Given the description of an element on the screen output the (x, y) to click on. 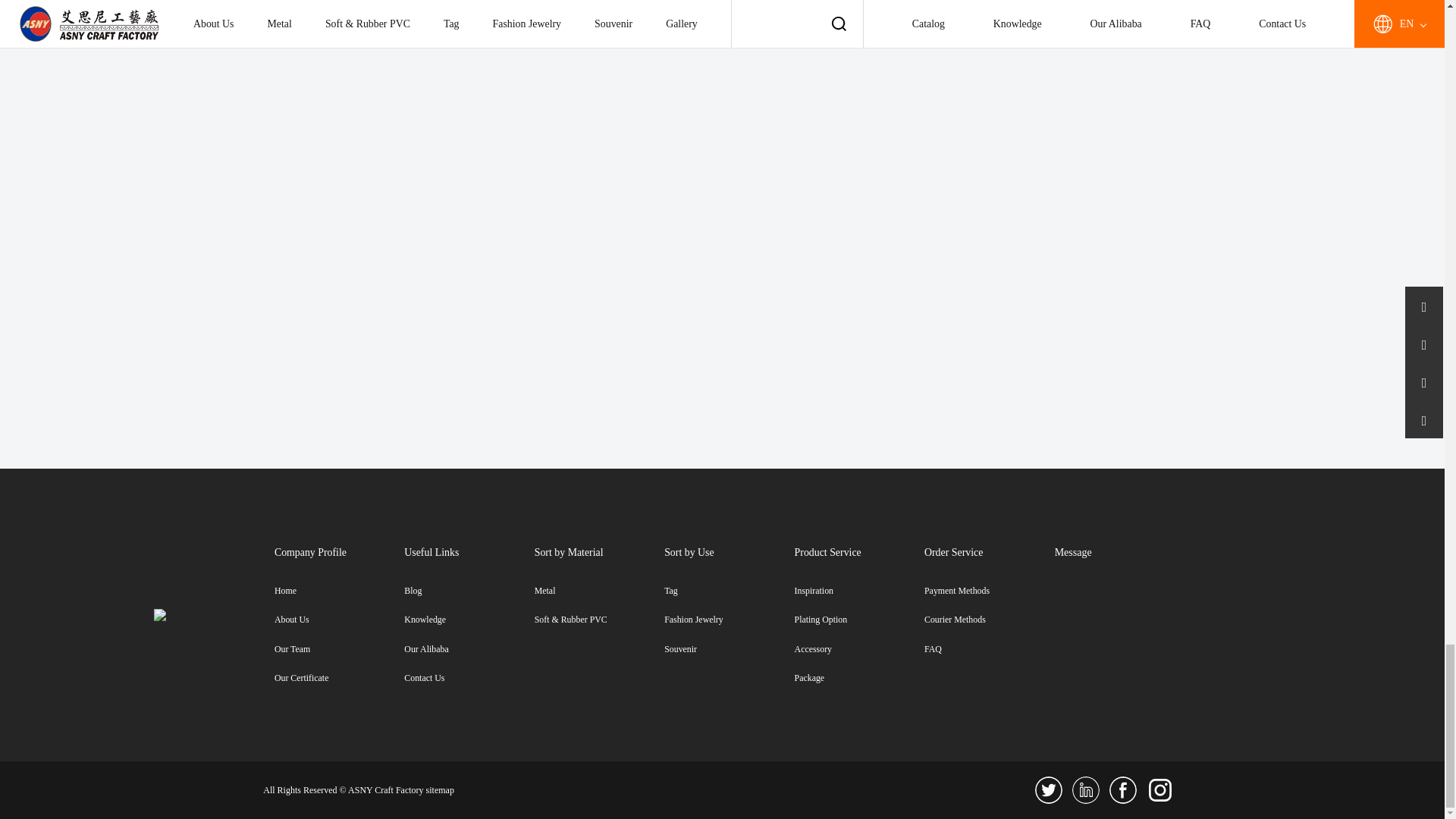
Knowledge (469, 619)
Our Alibaba (469, 649)
Blog (469, 590)
About Us (339, 619)
ASNY Craft Factory (194, 614)
Home (339, 590)
Our Team (339, 649)
Our Certificate (339, 677)
